Given the description of an element on the screen output the (x, y) to click on. 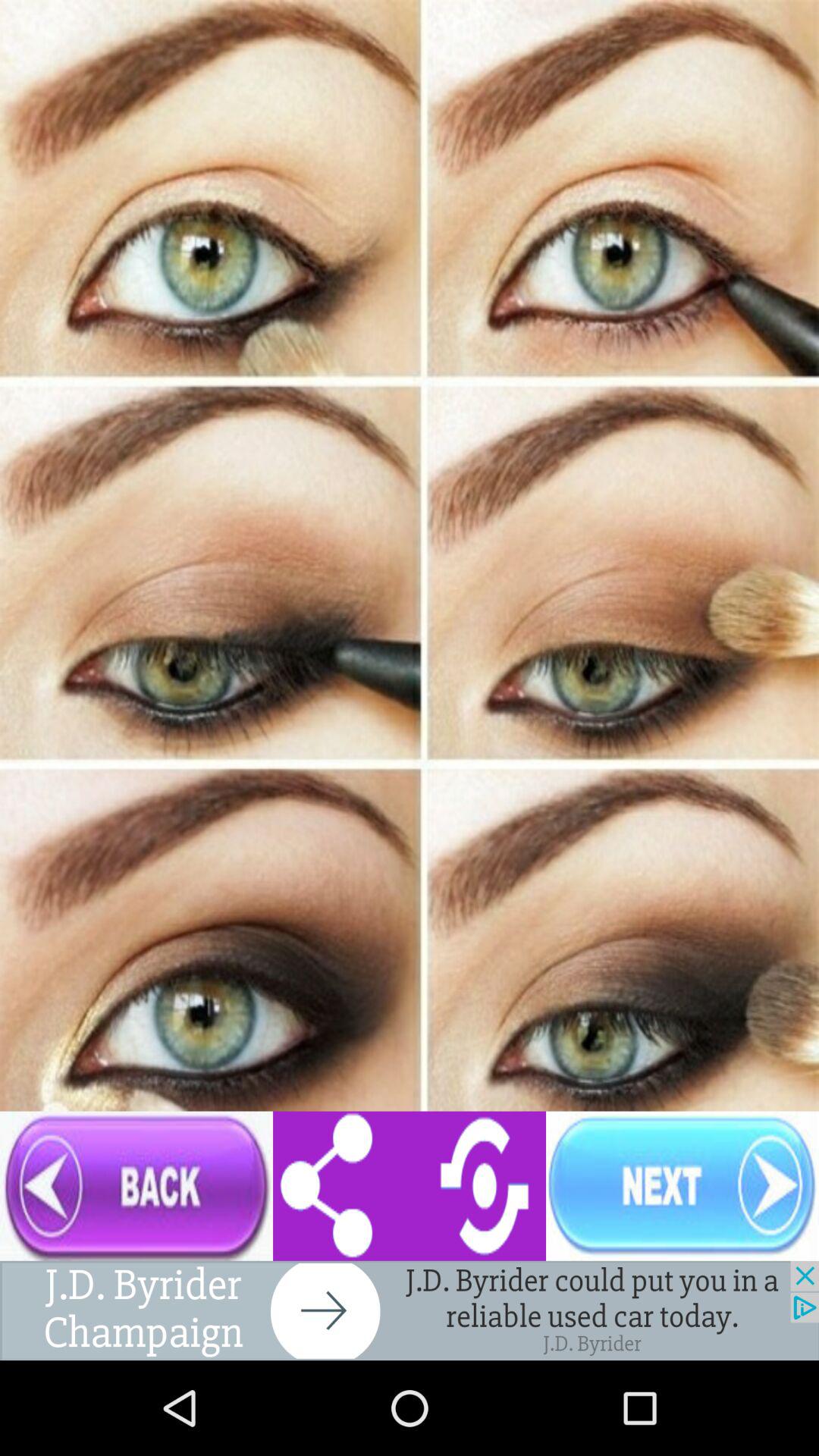
share page (409, 1185)
